Given the description of an element on the screen output the (x, y) to click on. 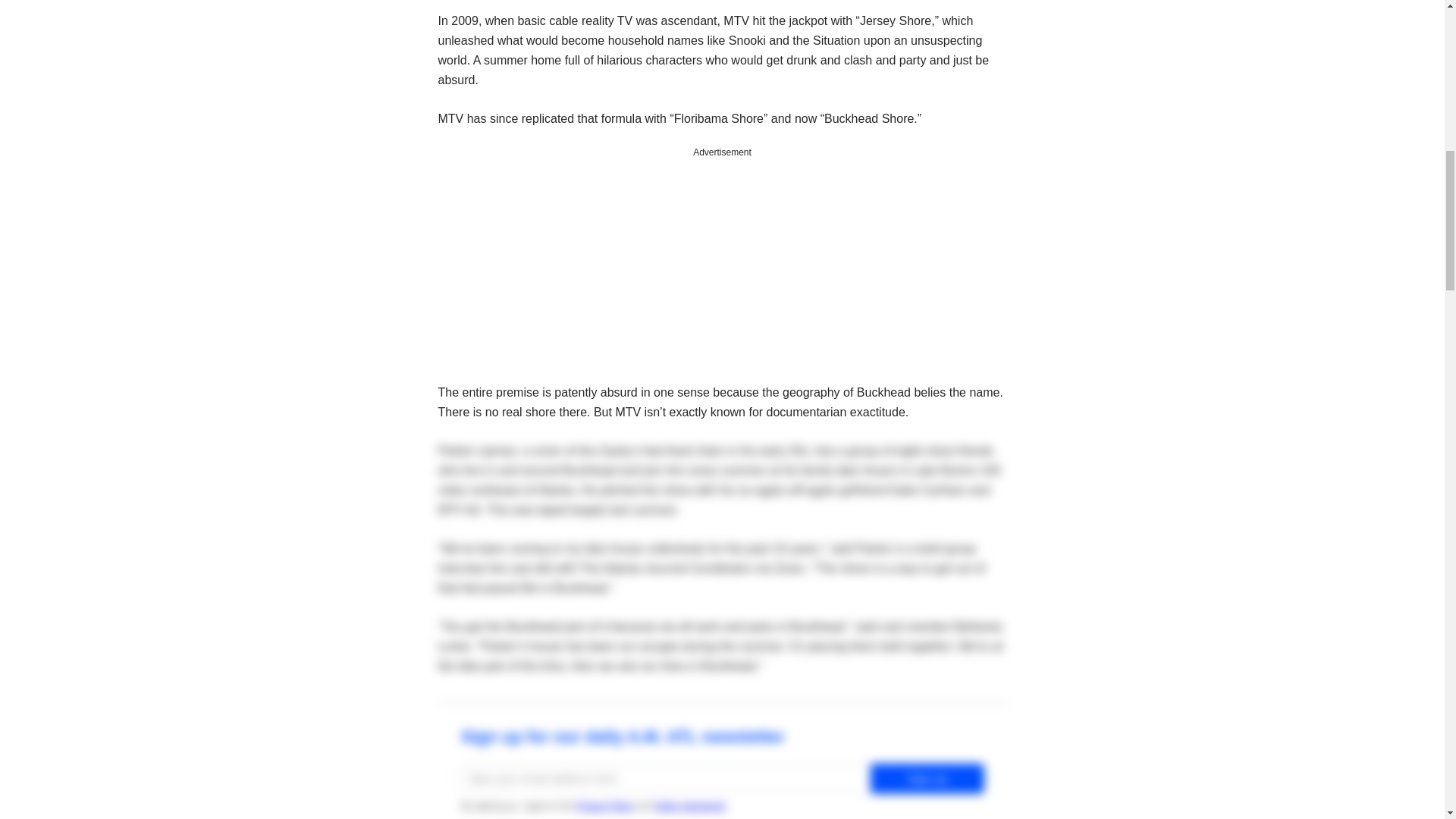
3rd party ad content (721, 257)
